Given the description of an element on the screen output the (x, y) to click on. 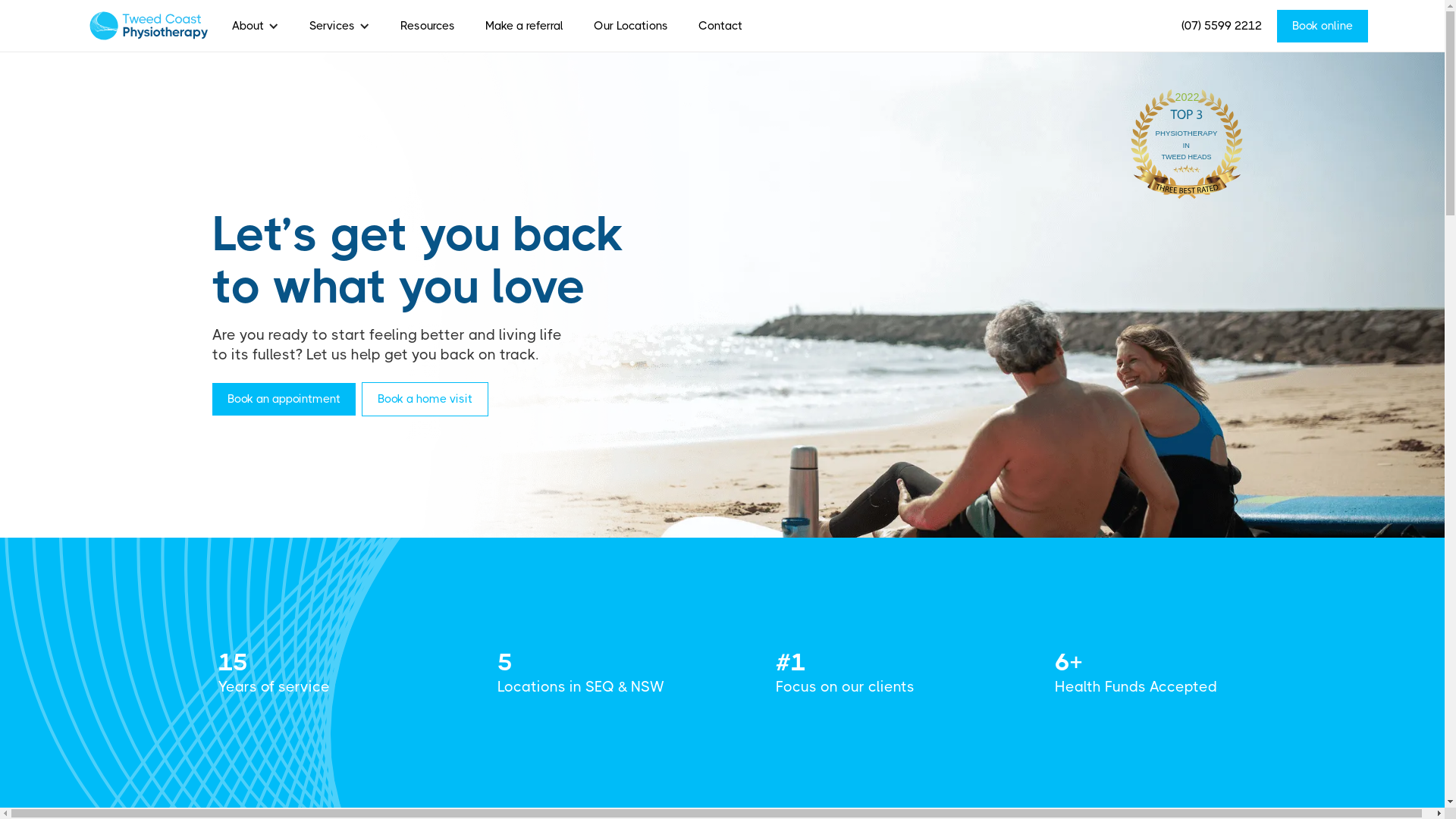
Make a referral Element type: text (524, 25)
Services Element type: text (331, 24)
About Element type: text (247, 24)
Book a home visit Element type: text (424, 399)
Book online Element type: text (1322, 25)
Resources Element type: text (427, 25)
(07) 5599 2212 Element type: text (1221, 25)
Book an appointment Element type: text (283, 398)
Our Locations Element type: text (630, 25)
Contact Element type: text (720, 25)
